Given the description of an element on the screen output the (x, y) to click on. 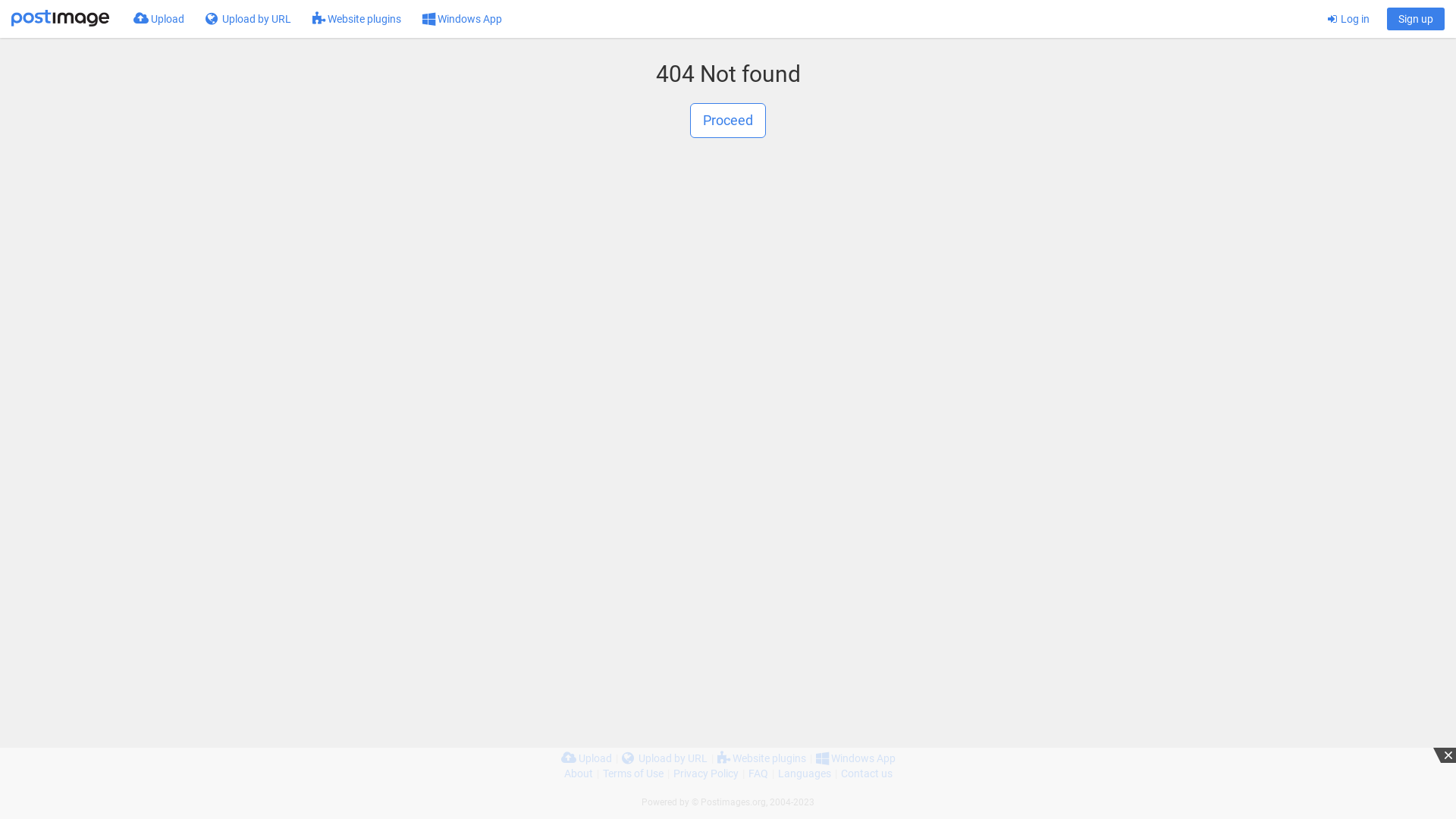
Upload by URL Element type: text (664, 758)
About Element type: text (578, 773)
Privacy Policy Element type: text (705, 773)
Sign up Element type: text (1415, 18)
Windows App Element type: text (461, 18)
Log in Element type: text (1348, 18)
Languages Element type: text (804, 773)
Windows App Element type: text (855, 758)
Upload Element type: text (586, 758)
Terms of Use Element type: text (632, 773)
Website plugins Element type: text (761, 758)
Contact us Element type: text (865, 773)
FAQ Element type: text (757, 773)
Proceed Element type: text (727, 120)
Upload by URL Element type: text (247, 18)
Upload Element type: text (158, 18)
Website plugins Element type: text (356, 18)
